Given the description of an element on the screen output the (x, y) to click on. 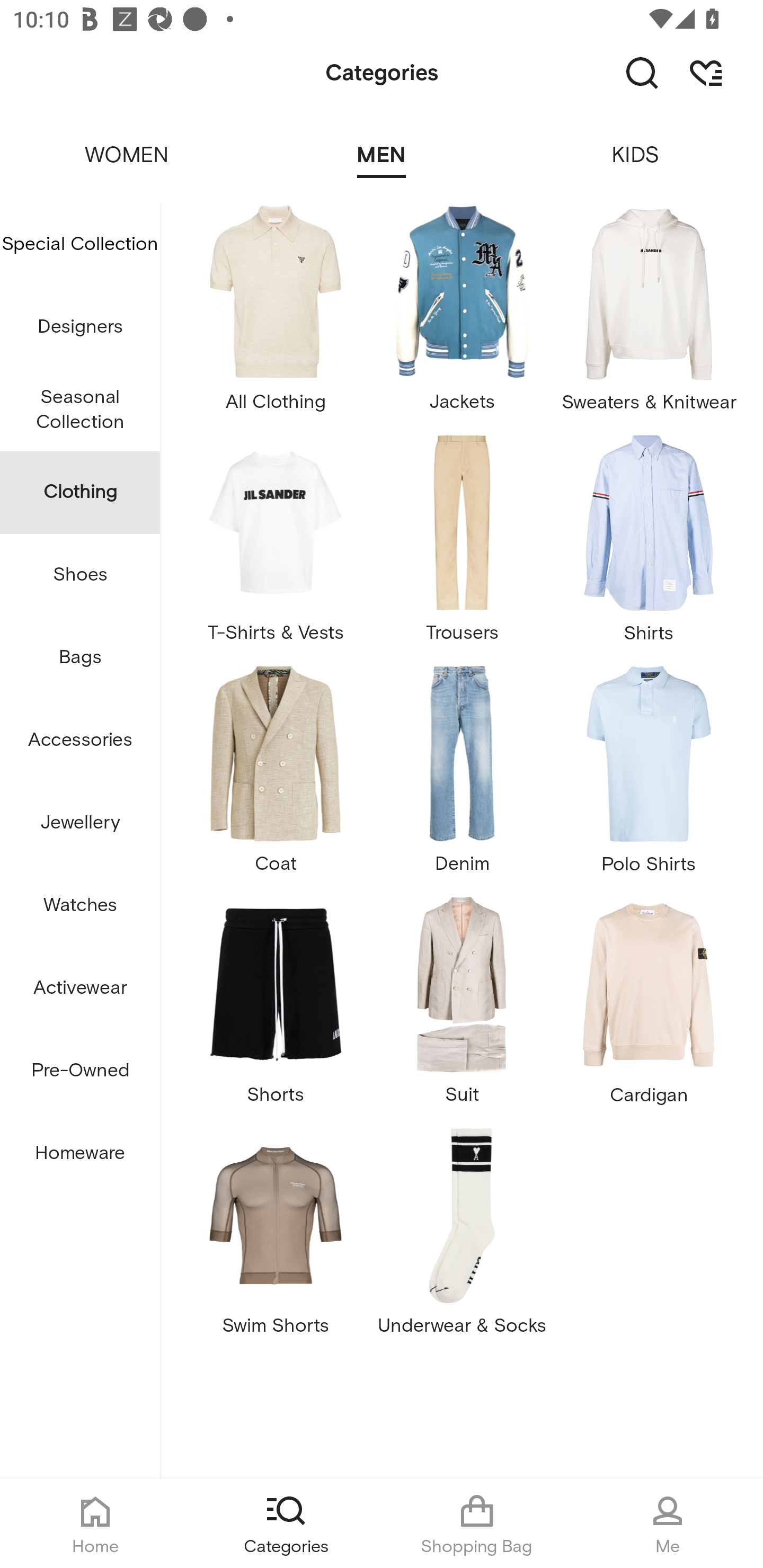
WOMEN (127, 143)
KIDS (635, 143)
Special Collection (80, 244)
All Clothing (274, 313)
Jackets (461, 313)
Sweaters & Knitwear (648, 313)
Designers (80, 326)
Seasonal Collection (80, 409)
T-Shirts & Vests (274, 544)
Trousers (461, 544)
Shirts (648, 544)
Clothing (80, 492)
Shoes (80, 575)
Bags (80, 657)
Coat (274, 775)
Denim (461, 775)
Polo Shirts (648, 775)
Accessories (80, 740)
Jewellery (80, 822)
Watches (80, 905)
Shorts (274, 1006)
Suit (461, 1006)
Cardigan (648, 1006)
Activewear (80, 988)
Pre-Owned (80, 1070)
Homeware (80, 1152)
Swim Shorts (274, 1237)
Underwear & Socks (461, 1237)
Home (95, 1523)
Shopping Bag (476, 1523)
Me (667, 1523)
